Given the description of an element on the screen output the (x, y) to click on. 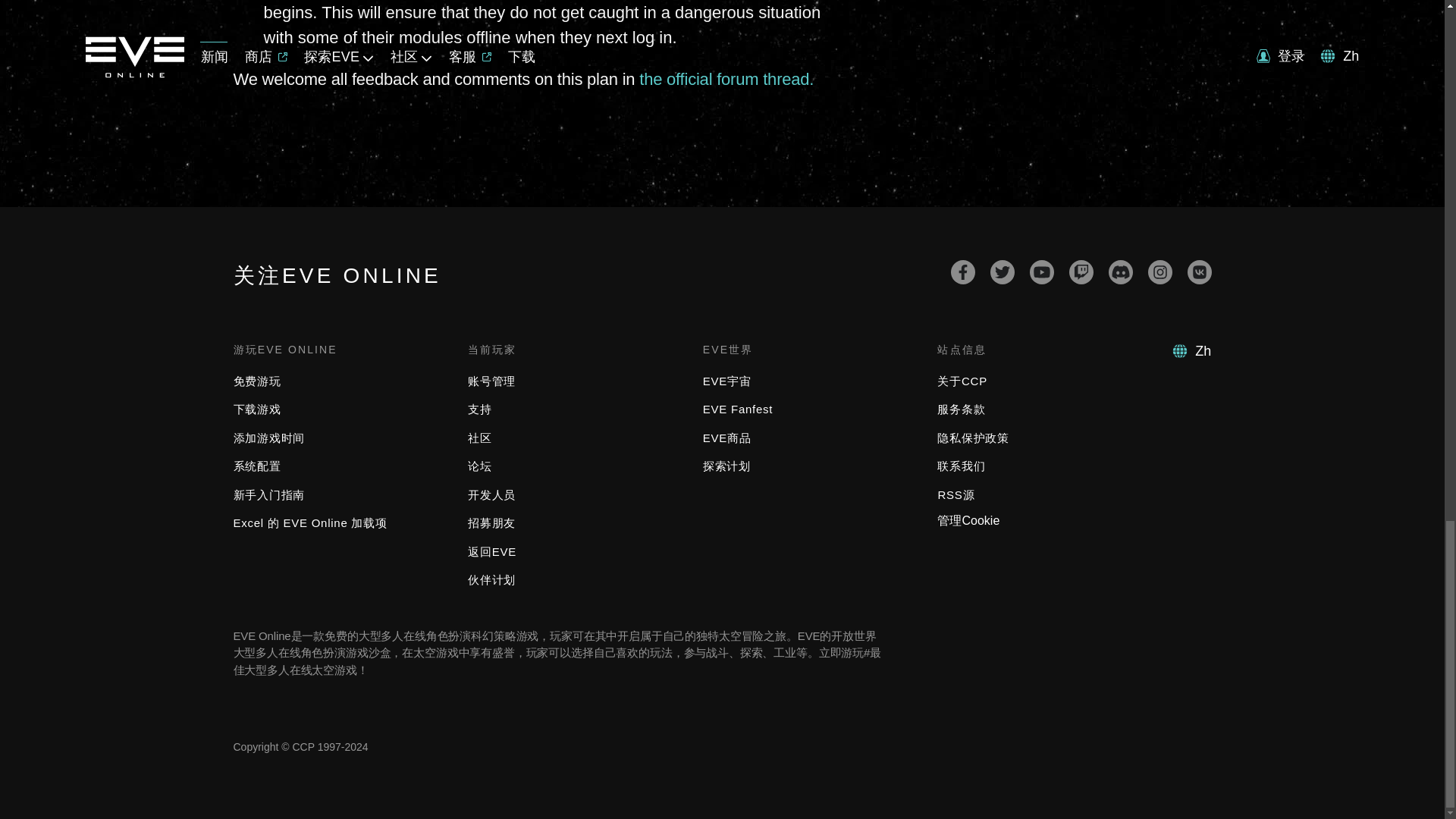
VK (1199, 272)
Instagram (1160, 272)
Twitch (1080, 272)
YouTube (1041, 272)
Facebook (962, 272)
Discord (1120, 272)
Twitter (1002, 272)
